Given the description of an element on the screen output the (x, y) to click on. 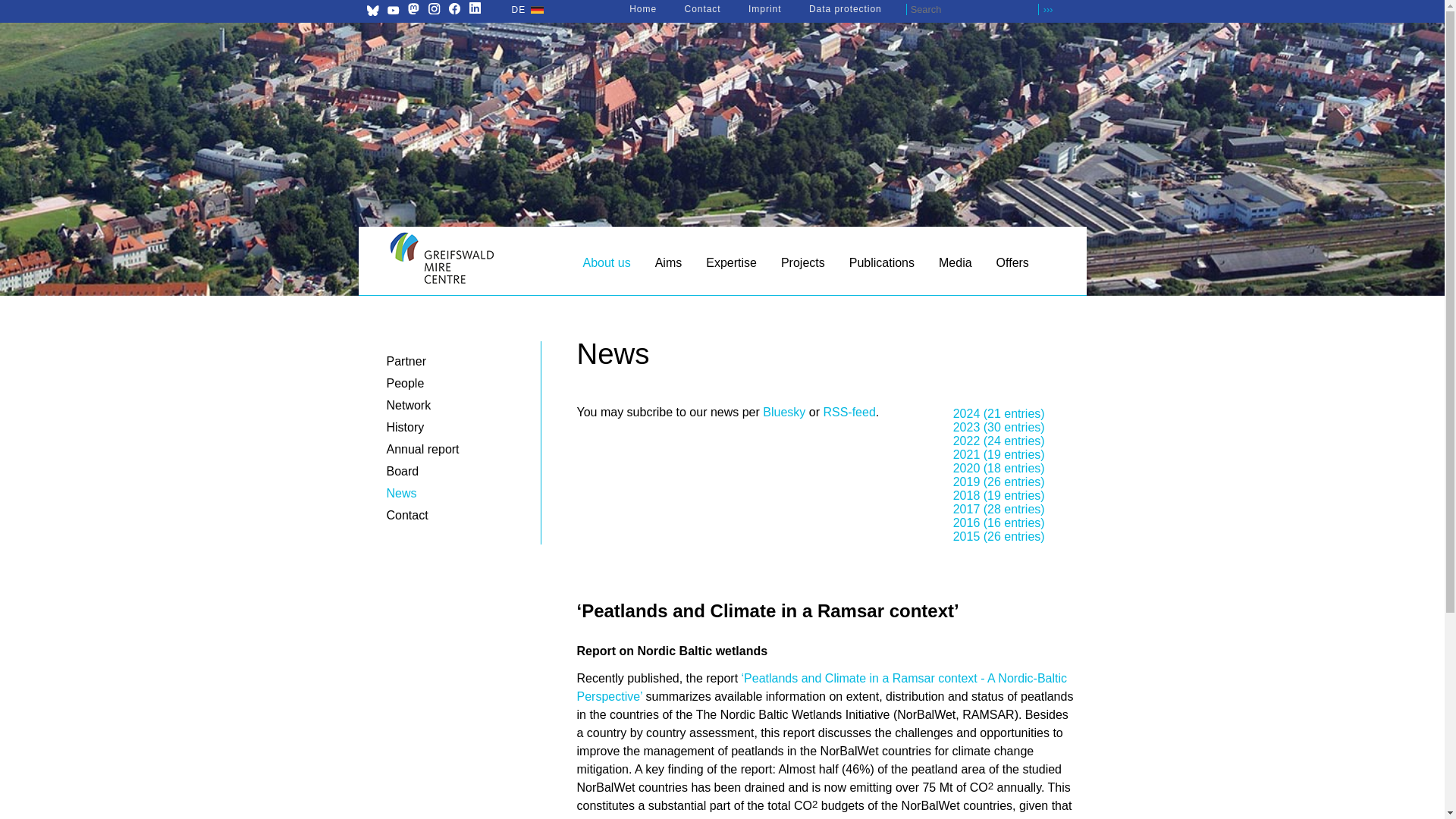
GMC on Instagram (434, 7)
Expertise (731, 266)
GMC on Linked IN (474, 7)
Data protection (845, 9)
GMC on Bluesky (371, 11)
Skip navigation (364, 255)
Contact (702, 9)
GMC on YouTube (392, 10)
GMC on Facebook (453, 10)
GMC on Mastodon (412, 10)
